Given the description of an element on the screen output the (x, y) to click on. 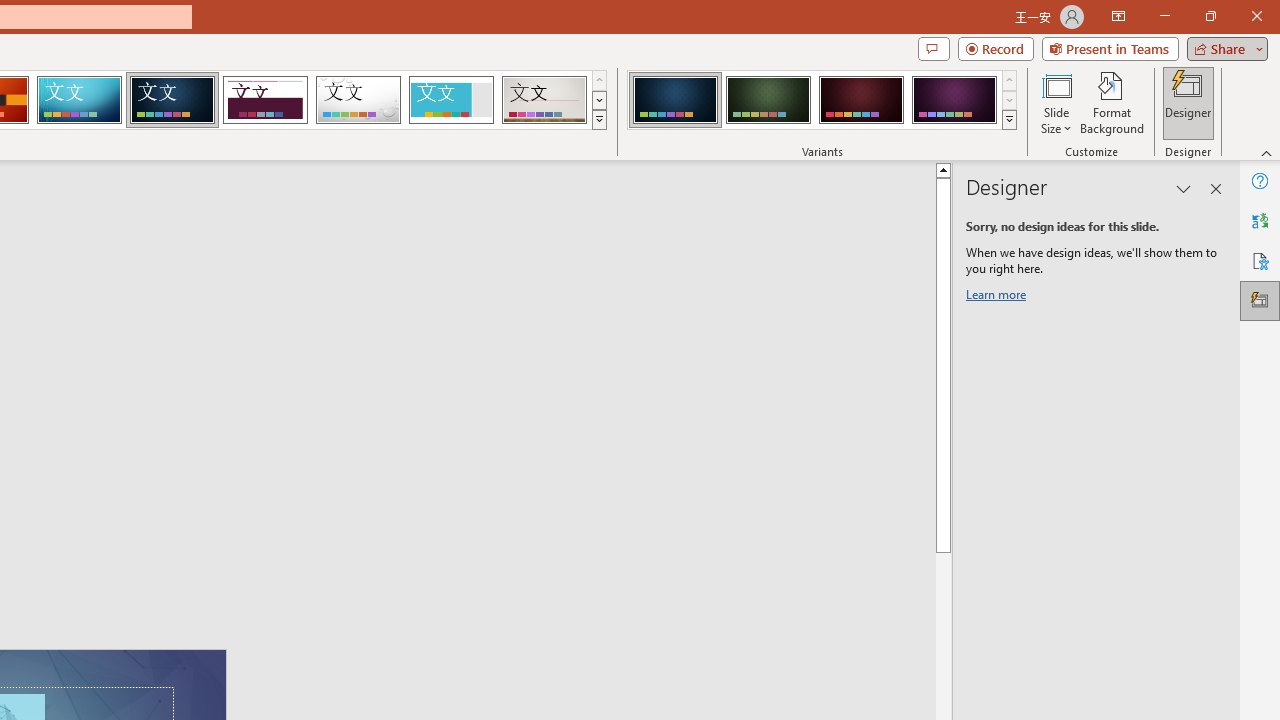
AutomationID: ThemeVariantsGallery (822, 99)
Damask (171, 100)
Frame (450, 100)
Dividend (265, 100)
Format Background (1111, 102)
